Given the description of an element on the screen output the (x, y) to click on. 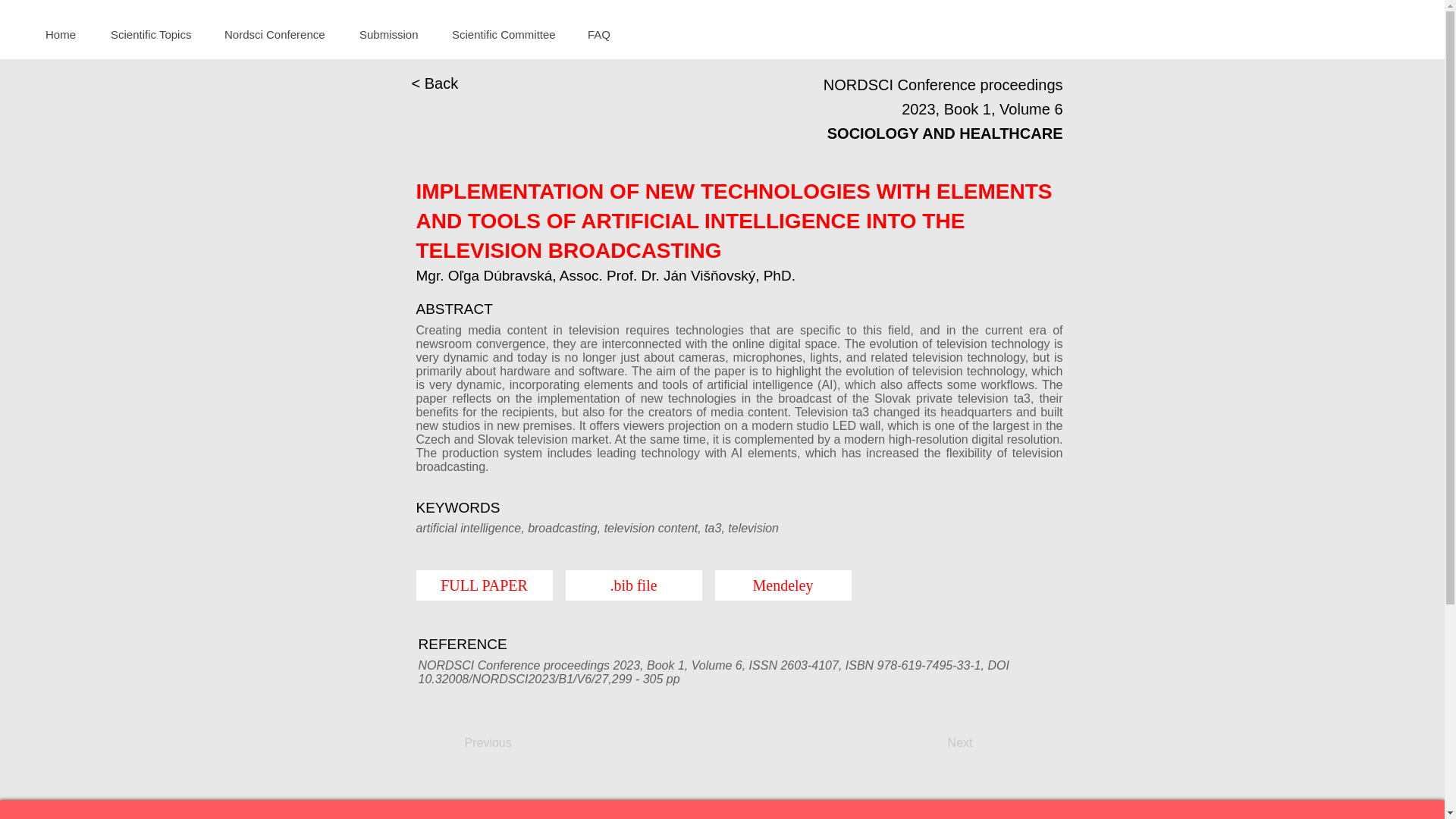
FAQ (603, 34)
Next (934, 743)
FULL PAPER (482, 585)
Scientific Committee (507, 34)
Home (66, 34)
.bib file (633, 585)
Previous (514, 743)
